Given the description of an element on the screen output the (x, y) to click on. 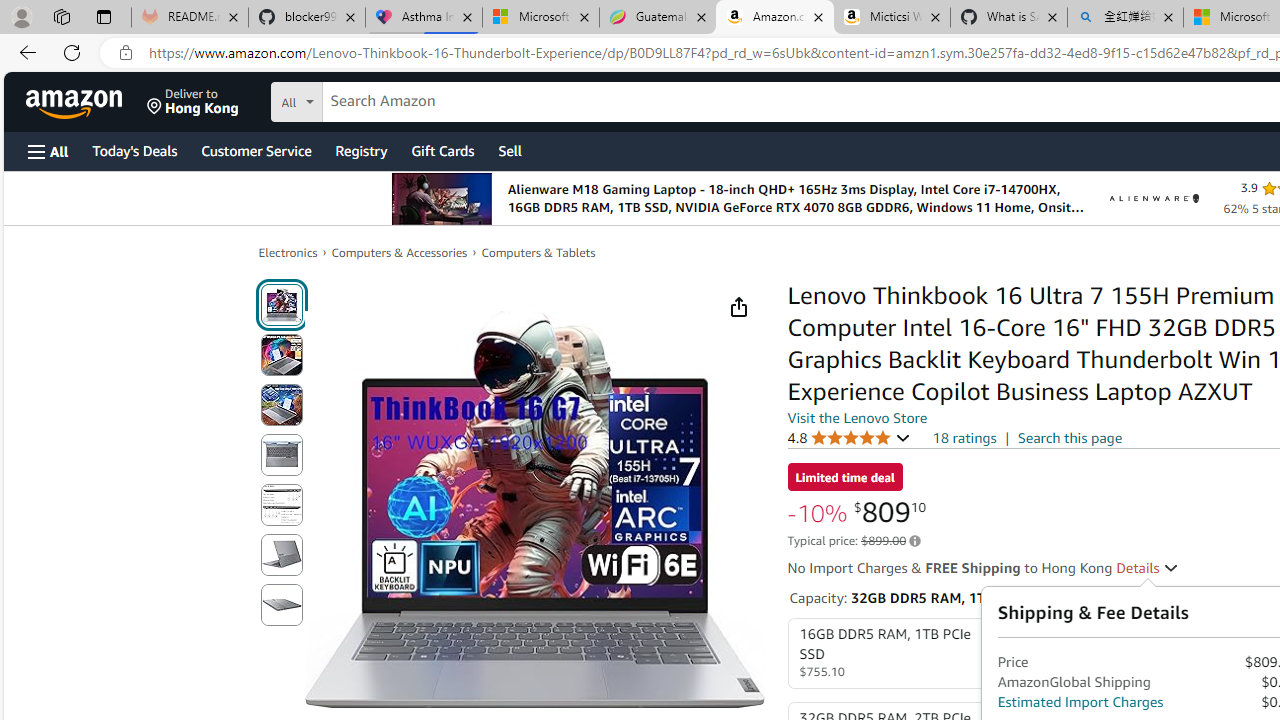
16GB DDR5 RAM, 512GB PCIe SSD 1 option from $799.00 (1101, 653)
18 ratings (964, 438)
Customer Service (256, 150)
Details  (1148, 568)
Computers & Tablets (538, 252)
Computers & Tablets (538, 251)
4.8 4.8 out of 5 stars (849, 437)
Estimated Import Charges (1080, 701)
Today's Deals (134, 150)
